Given the description of an element on the screen output the (x, y) to click on. 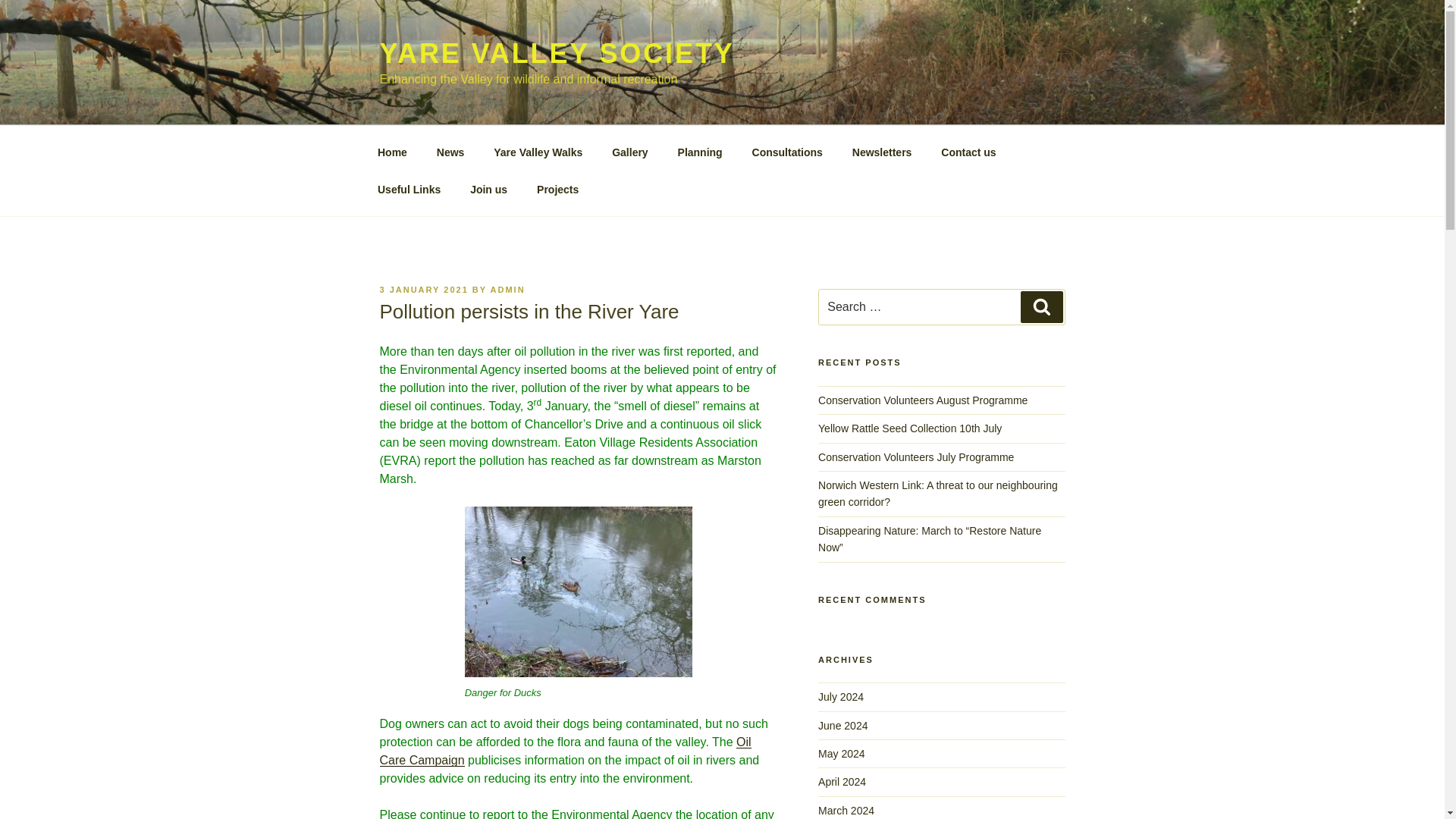
June 2024 (842, 725)
Newsletters (881, 151)
Conservation Volunteers July Programme (915, 457)
April 2024 (842, 781)
Planning (699, 151)
May 2024 (841, 753)
3 JANUARY 2021 (422, 289)
March 2024 (846, 810)
Gallery (629, 151)
Conservation Volunteers August Programme (922, 399)
